Given the description of an element on the screen output the (x, y) to click on. 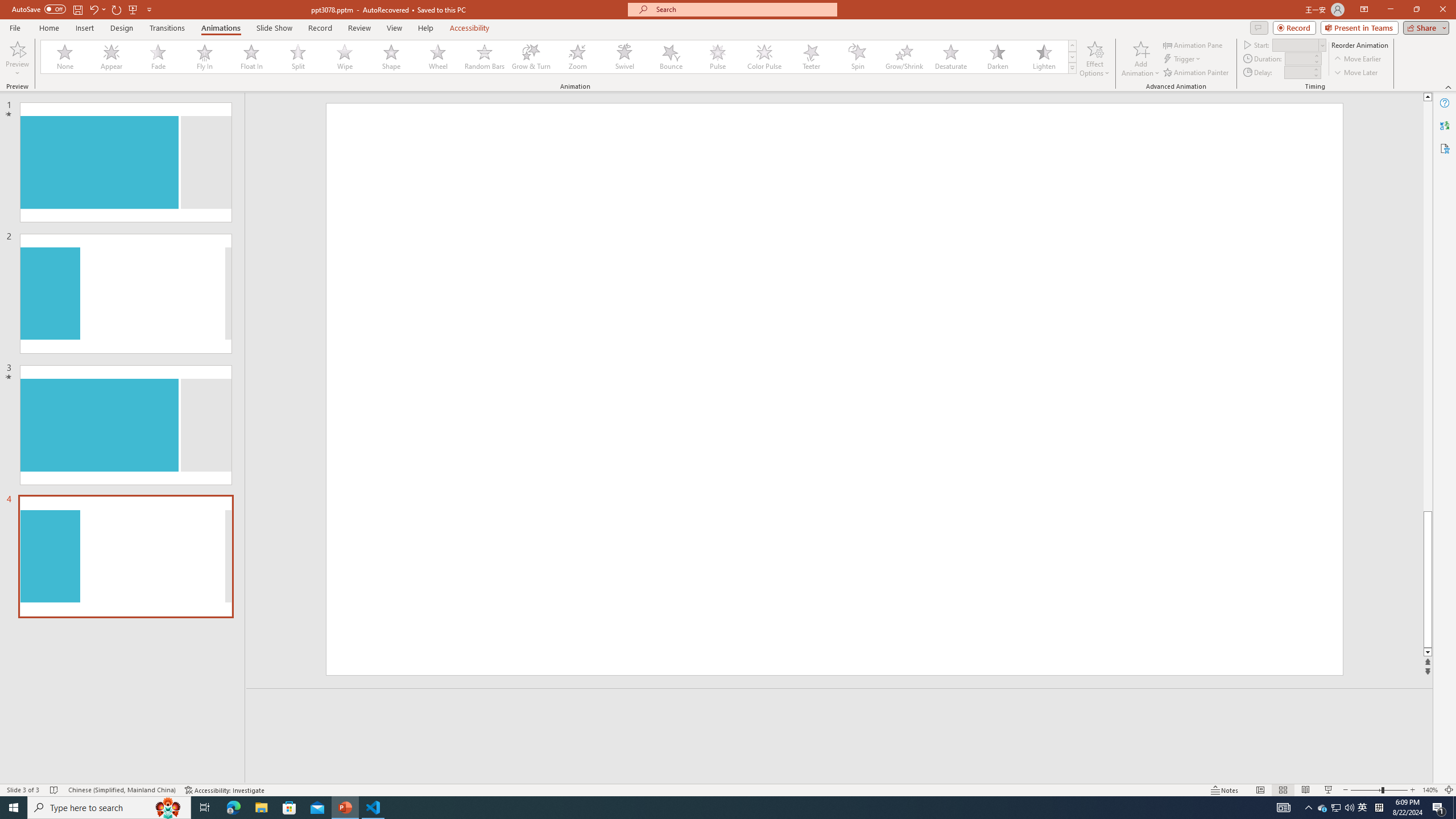
Less (1315, 75)
Trigger (1182, 58)
Grow & Turn (531, 56)
Random Bars (484, 56)
Pulse (717, 56)
Wipe (344, 56)
Animation Pane (1193, 44)
Fly In (205, 56)
More (1315, 69)
